Given the description of an element on the screen output the (x, y) to click on. 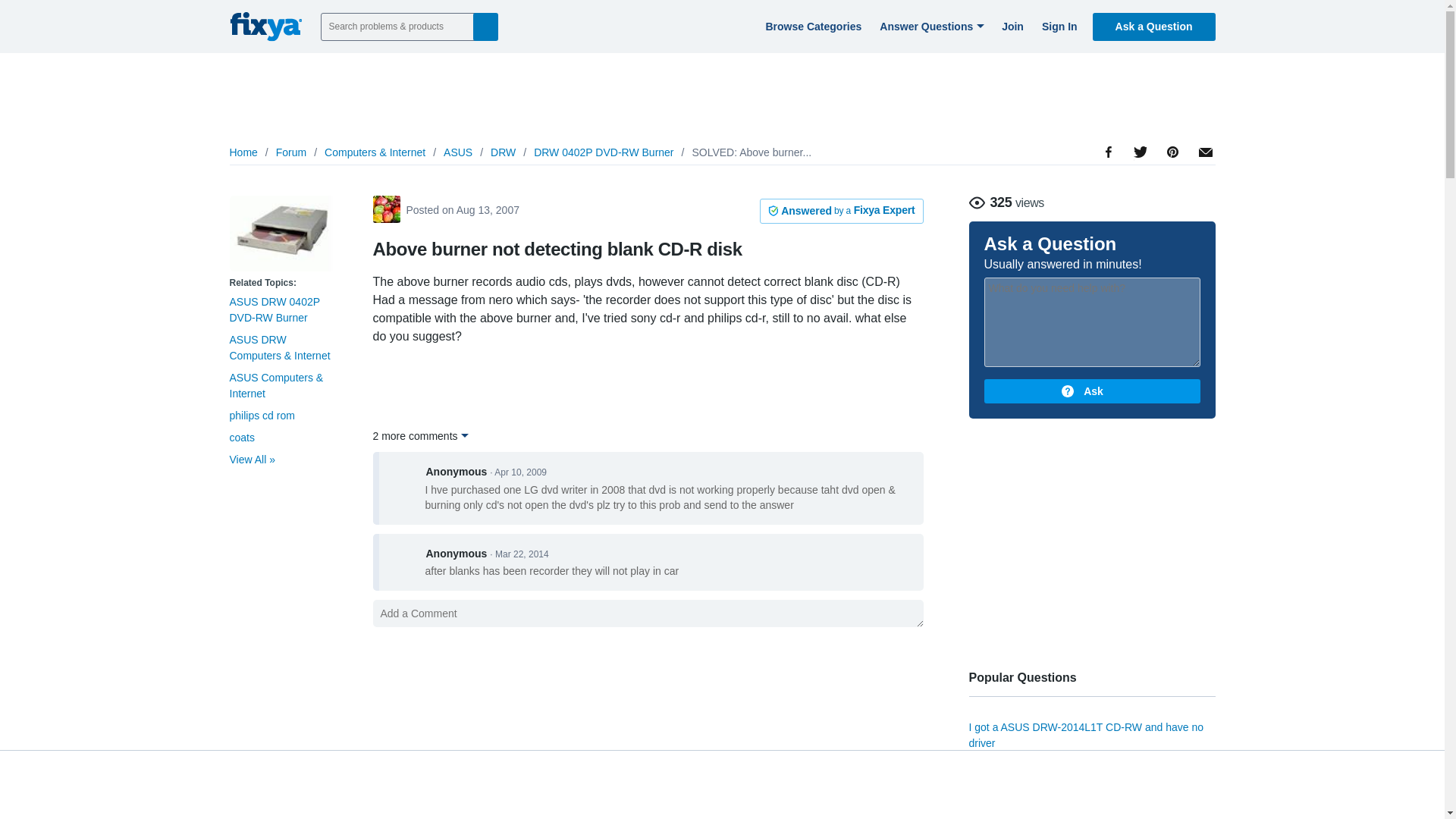
Search Fixya (485, 26)
Forum (290, 152)
Browse Categories (810, 26)
Ask (1091, 391)
DRW 0402P DVD-RW Burner (603, 152)
ASUS DRW 0402P DVD-RW Burner (280, 233)
Sign In (1056, 26)
Ask a Question (1154, 26)
DRW (502, 152)
philips cd rom (261, 415)
coats (240, 437)
ASUS DRW 0402P DVD-RW Burner (273, 309)
Answer Questions (929, 26)
Home (242, 152)
Search Fixya (485, 26)
